Given the description of an element on the screen output the (x, y) to click on. 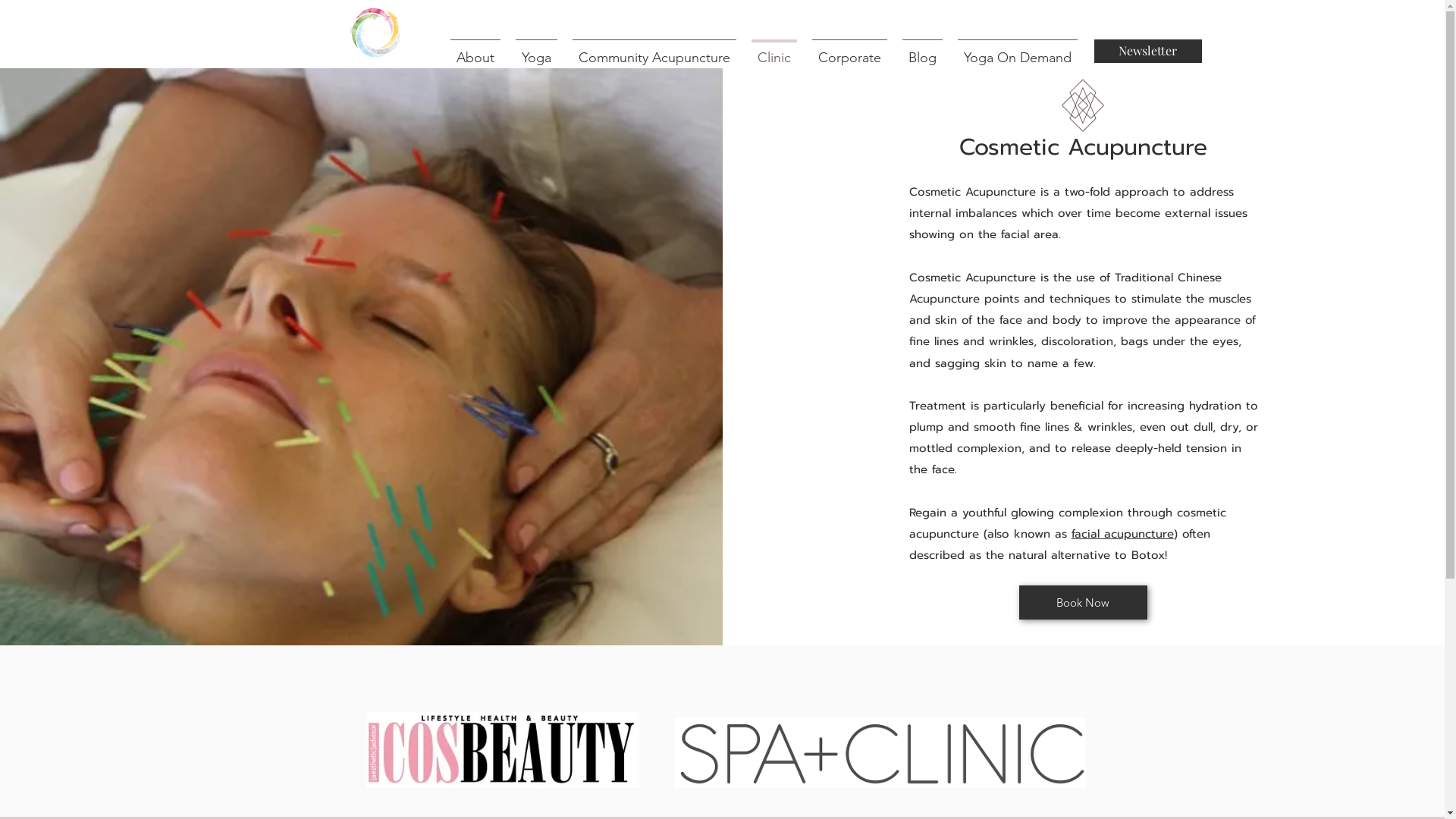
Corporate Element type: text (848, 50)
download.png Element type: hover (879, 752)
Community Acupuncture Element type: text (653, 50)
Book Now Element type: text (1083, 602)
facial acupuncture Element type: text (1122, 533)
CBMAA_LOGO-360x100-1.webp Element type: hover (501, 749)
Blog Element type: text (922, 50)
Newsletter Element type: text (1147, 50)
About Element type: text (475, 50)
Yoga Element type: text (536, 50)
Clinic Element type: text (773, 50)
